Given the description of an element on the screen output the (x, y) to click on. 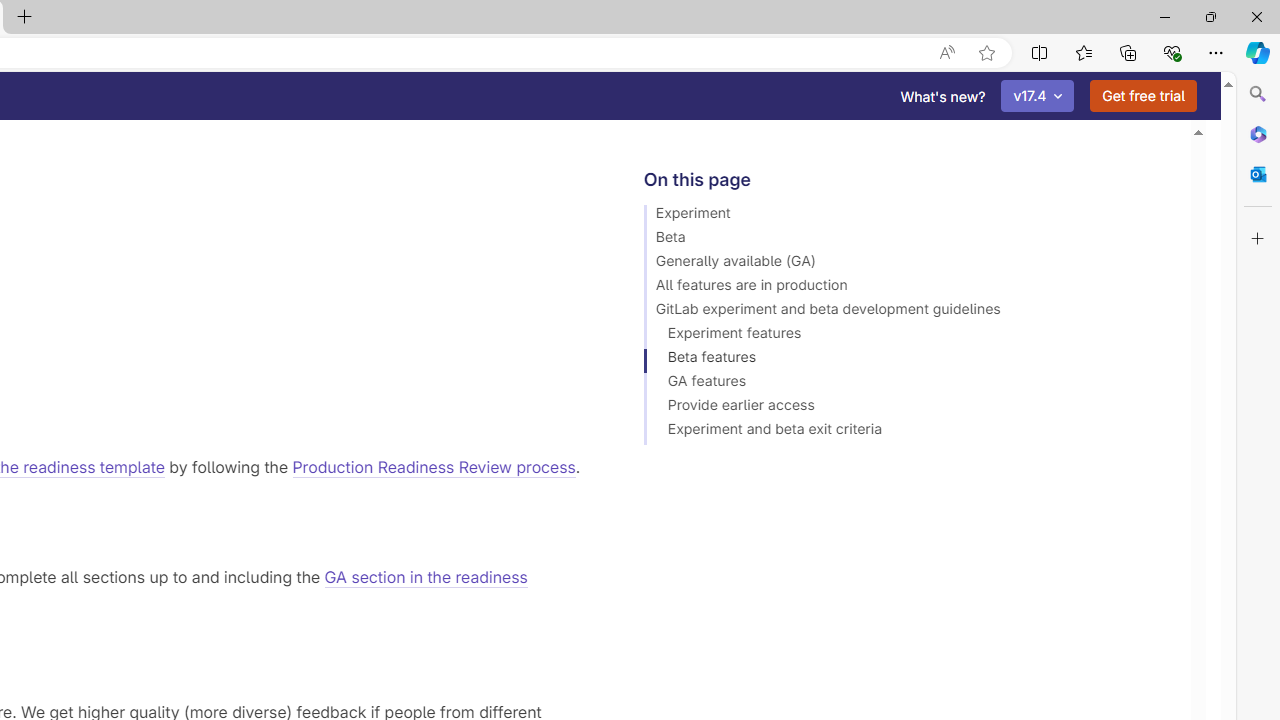
Provide earlier access (908, 408)
experiment section in the readiness template (186, 84)
Experiment features (908, 336)
Provide earlier access (908, 408)
Experiment (908, 215)
Get free trial (1143, 95)
